Given the description of an element on the screen output the (x, y) to click on. 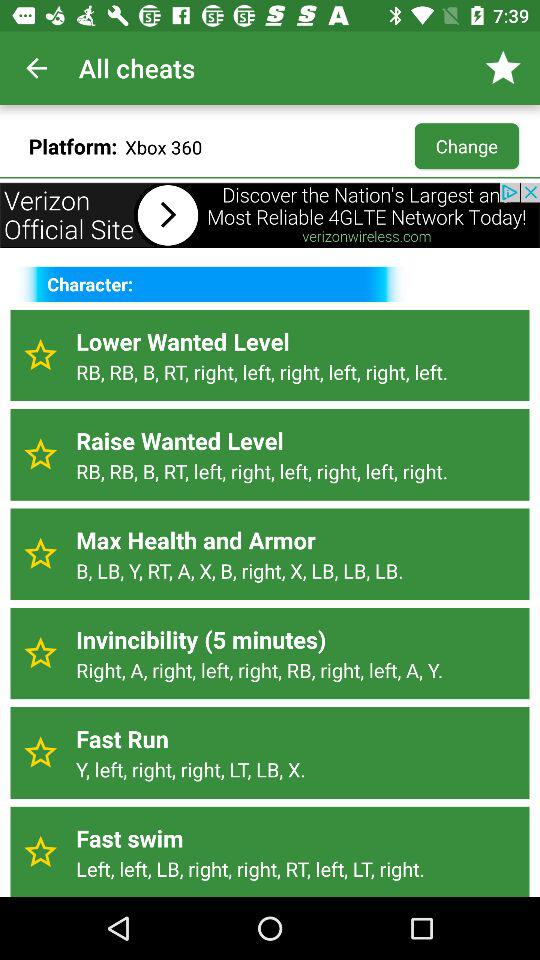
add favorite character (40, 553)
